Given the description of an element on the screen output the (x, y) to click on. 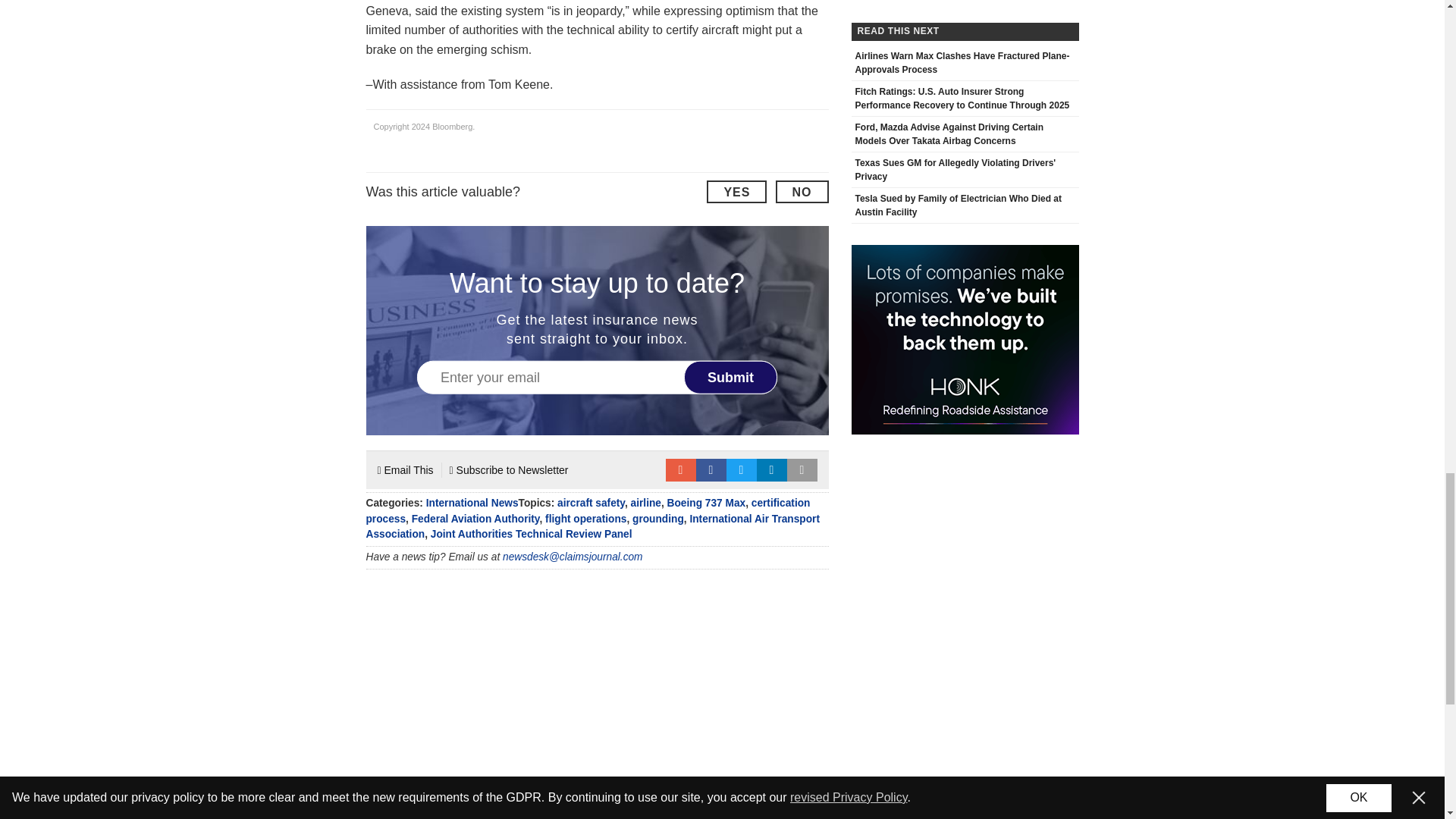
Email This (405, 469)
YES (736, 191)
Submit (730, 377)
NO (801, 191)
Share on LinkedIn. (772, 469)
Post to Facebook. (710, 469)
Email to a friend (680, 469)
Share on Twitter. (741, 469)
Print Article (801, 469)
